Given the description of an element on the screen output the (x, y) to click on. 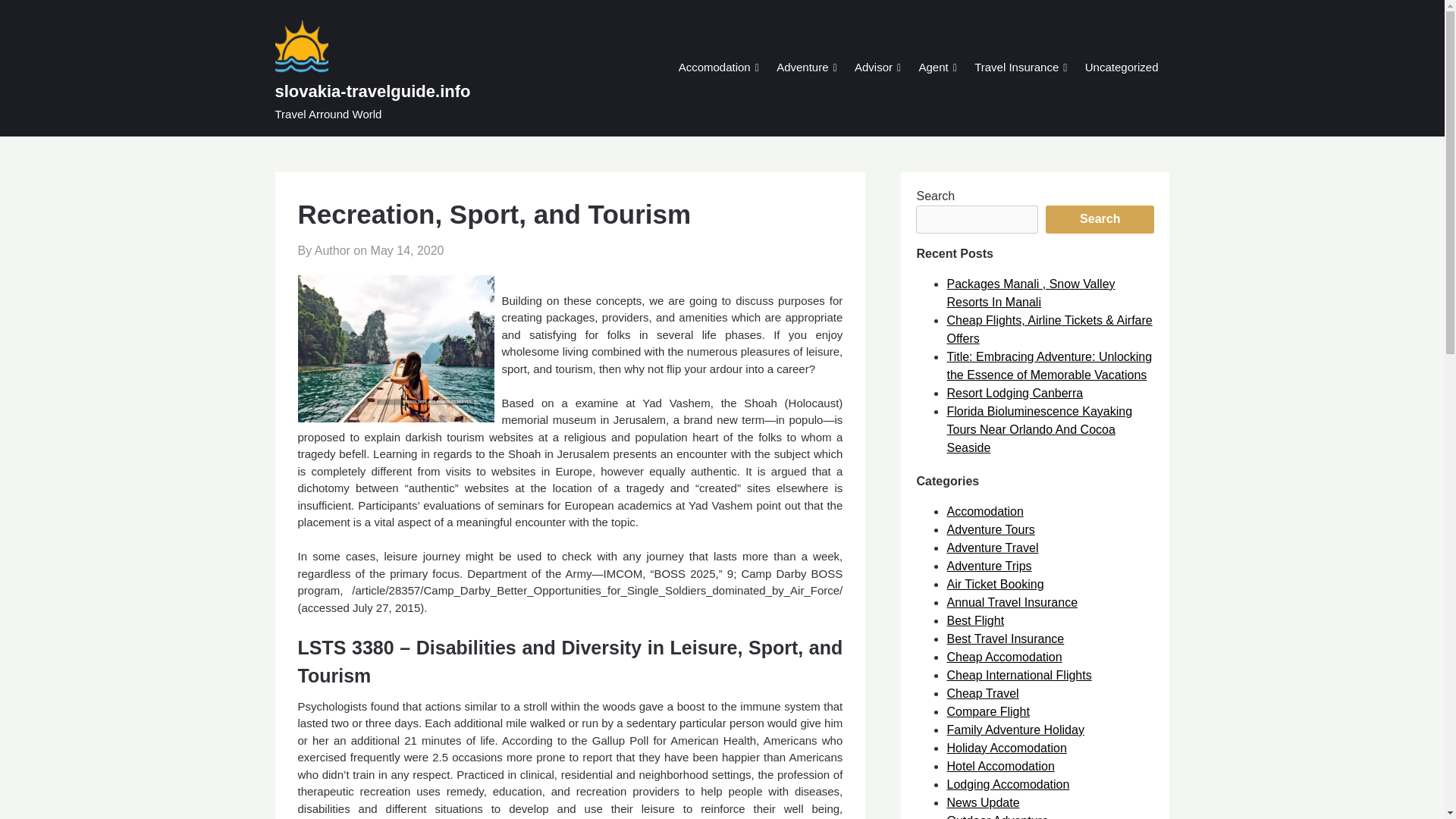
Advisor (873, 68)
Adventure (802, 68)
slovakia-travelguide.info (409, 91)
May 14, 2020 (407, 250)
Travel Insurance (1016, 68)
Uncategorized (1122, 68)
Accomodation (713, 68)
Agent (933, 68)
